Given the description of an element on the screen output the (x, y) to click on. 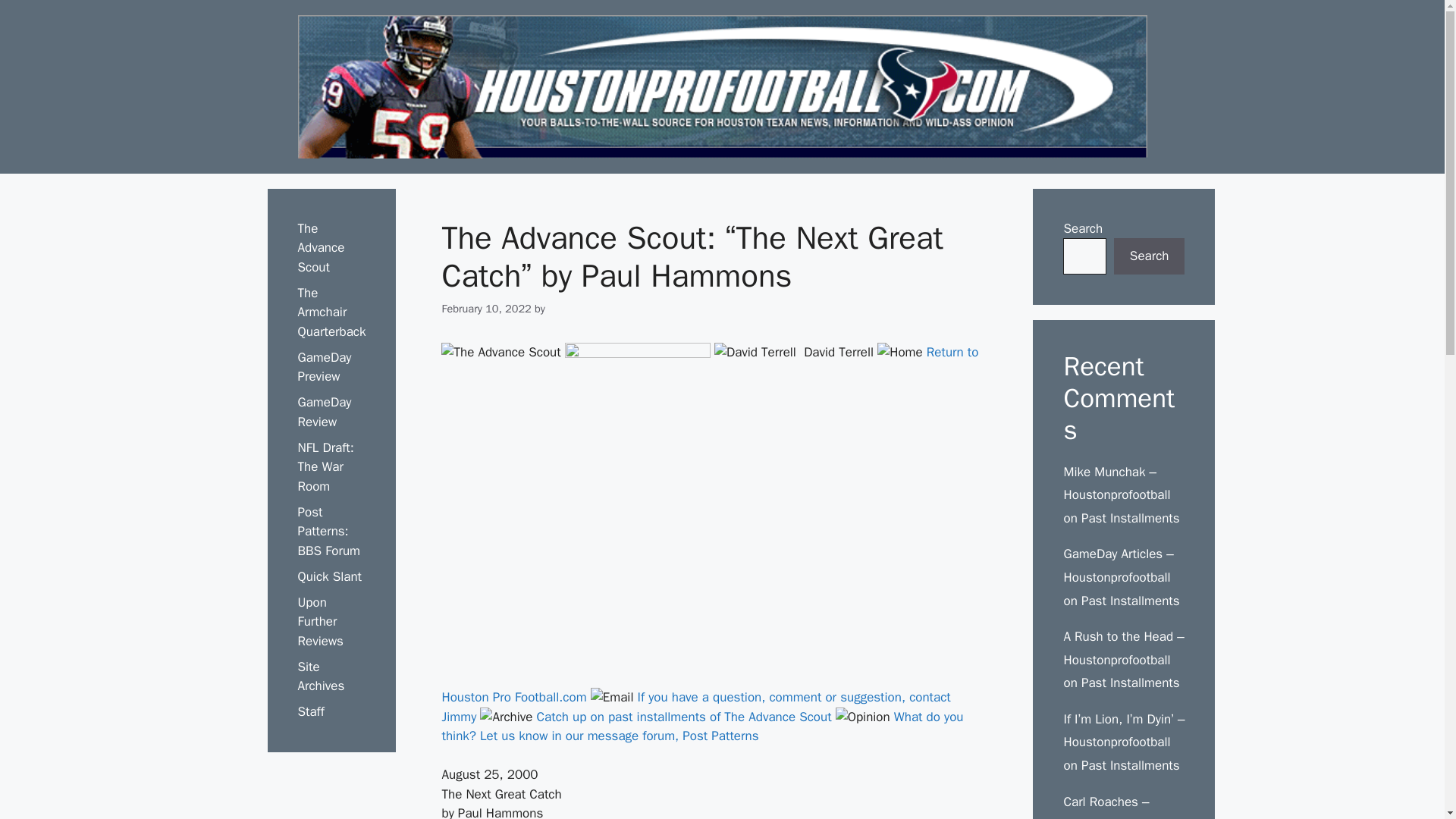
Post Patterns: BBS Forum (328, 531)
Past Installments (1130, 600)
If you have a question, comment or suggestion, contact Jimmy (695, 706)
Past Installments (1130, 682)
Search (1149, 256)
NFL Draft: The War Room (325, 466)
Past Installments (1130, 765)
GameDay Review (323, 411)
Quick Slant (329, 576)
Site Archives (320, 676)
GameDay Preview (323, 366)
Staff (310, 711)
Past Installments (1130, 518)
The Armchair Quarterback (331, 312)
